Given the description of an element on the screen output the (x, y) to click on. 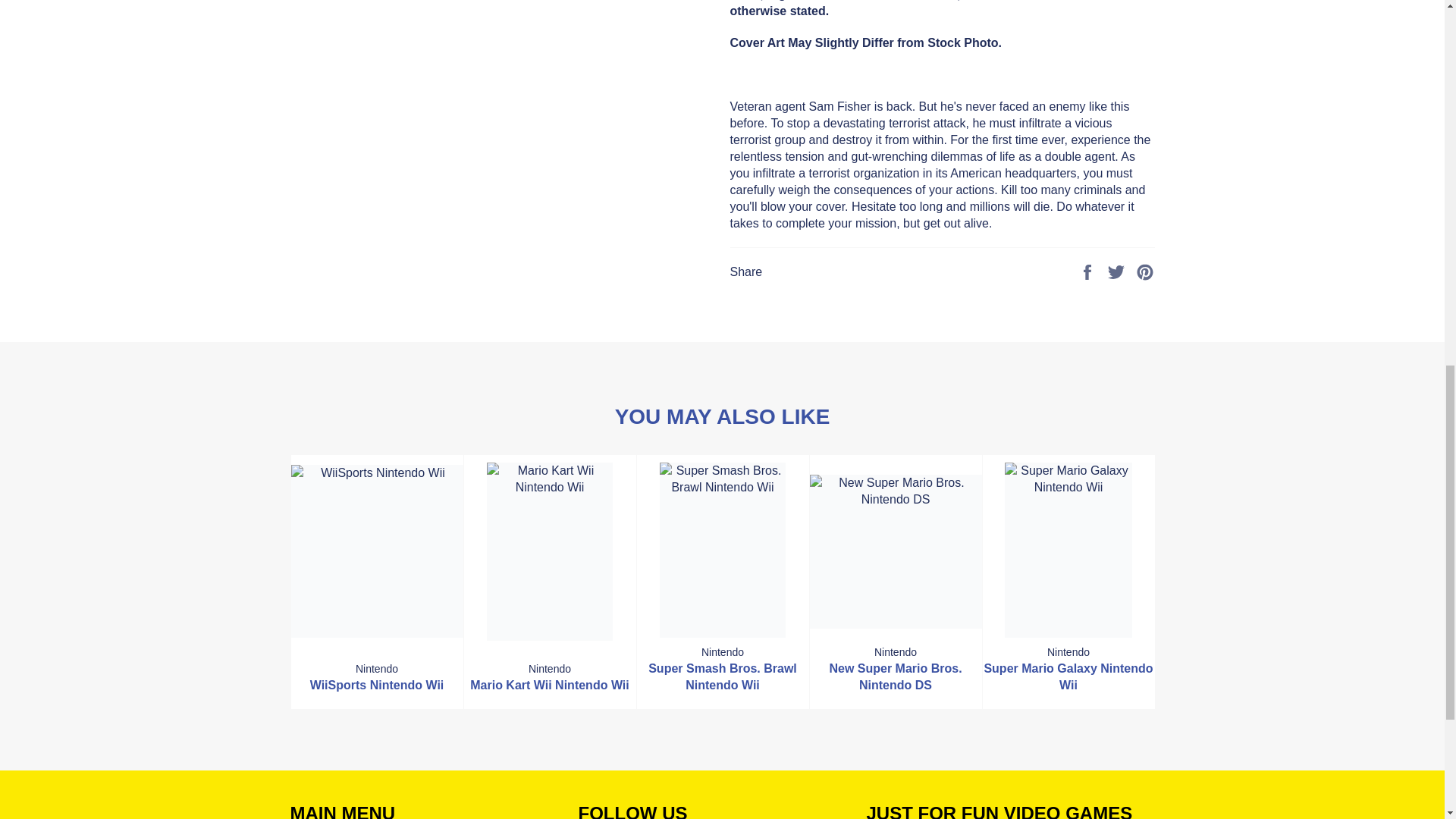
Share on Facebook (1088, 270)
Tweet on Twitter (1117, 270)
Pin on Pinterest (1144, 270)
